Given the description of an element on the screen output the (x, y) to click on. 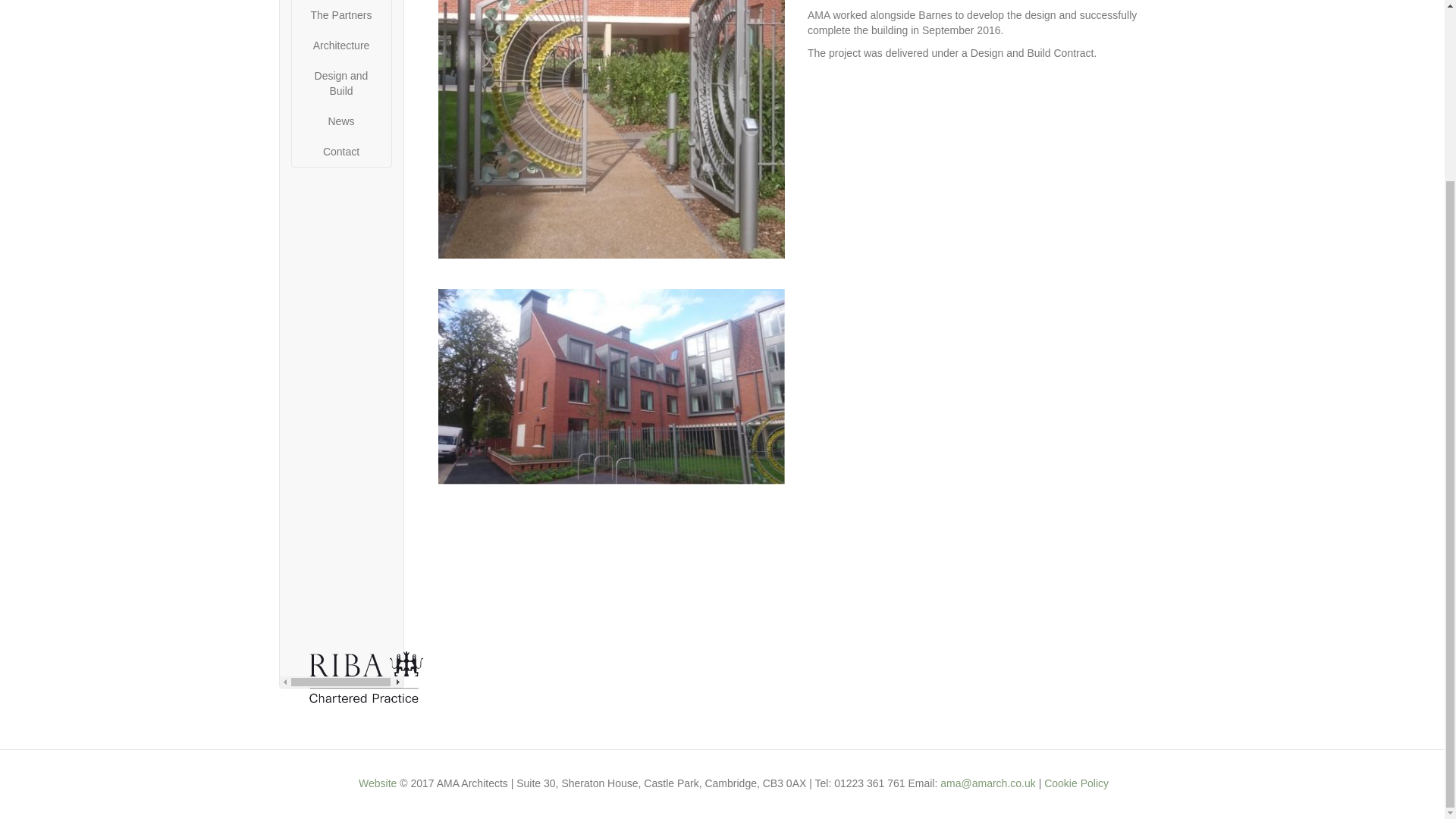
Cookie Policy (1075, 783)
Design and Build (340, 83)
Architecture (340, 45)
News (340, 121)
The Partners (340, 15)
Website (377, 783)
Contact (340, 151)
